Given the description of an element on the screen output the (x, y) to click on. 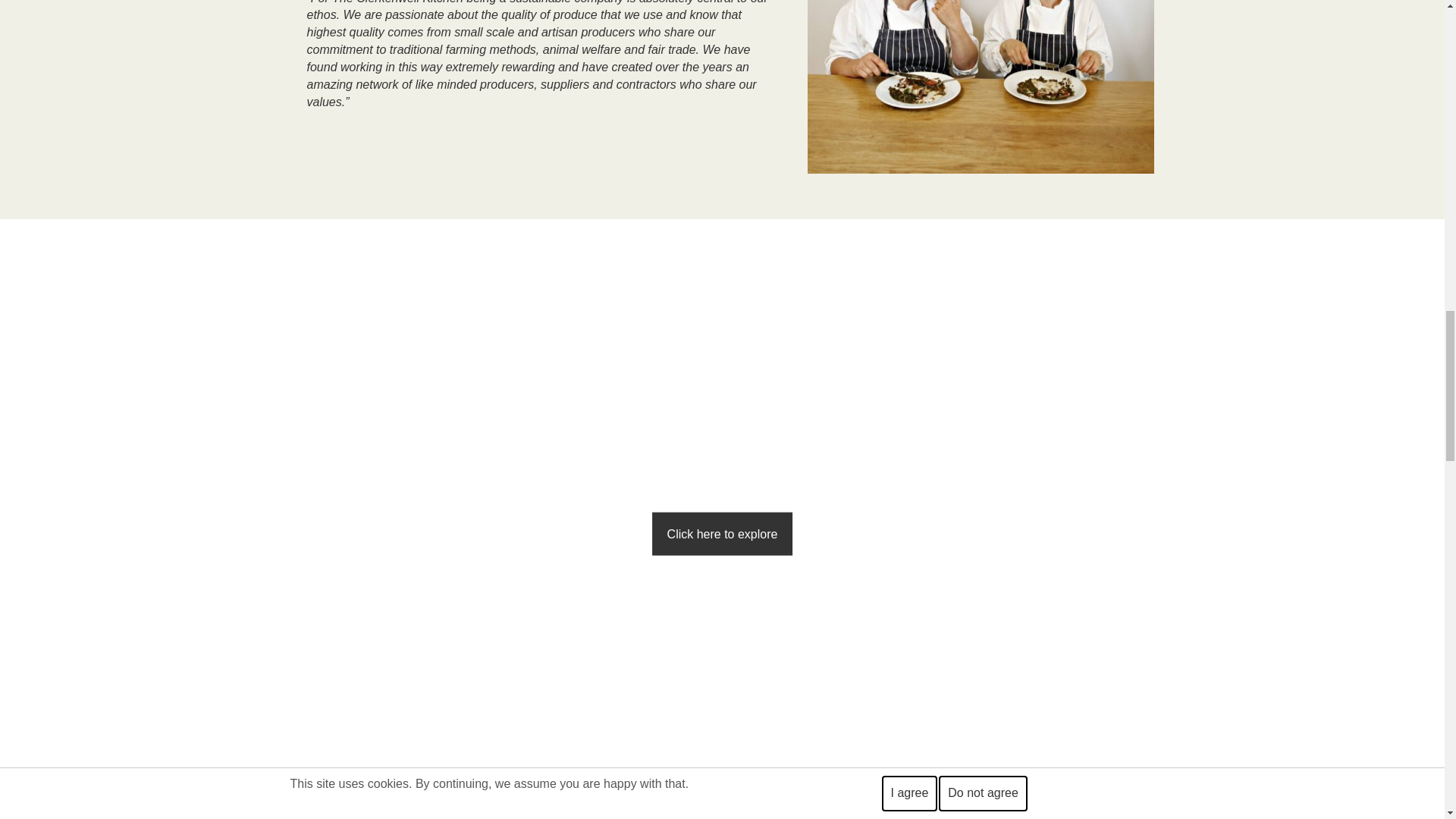
Click here to explore (722, 534)
